Given the description of an element on the screen output the (x, y) to click on. 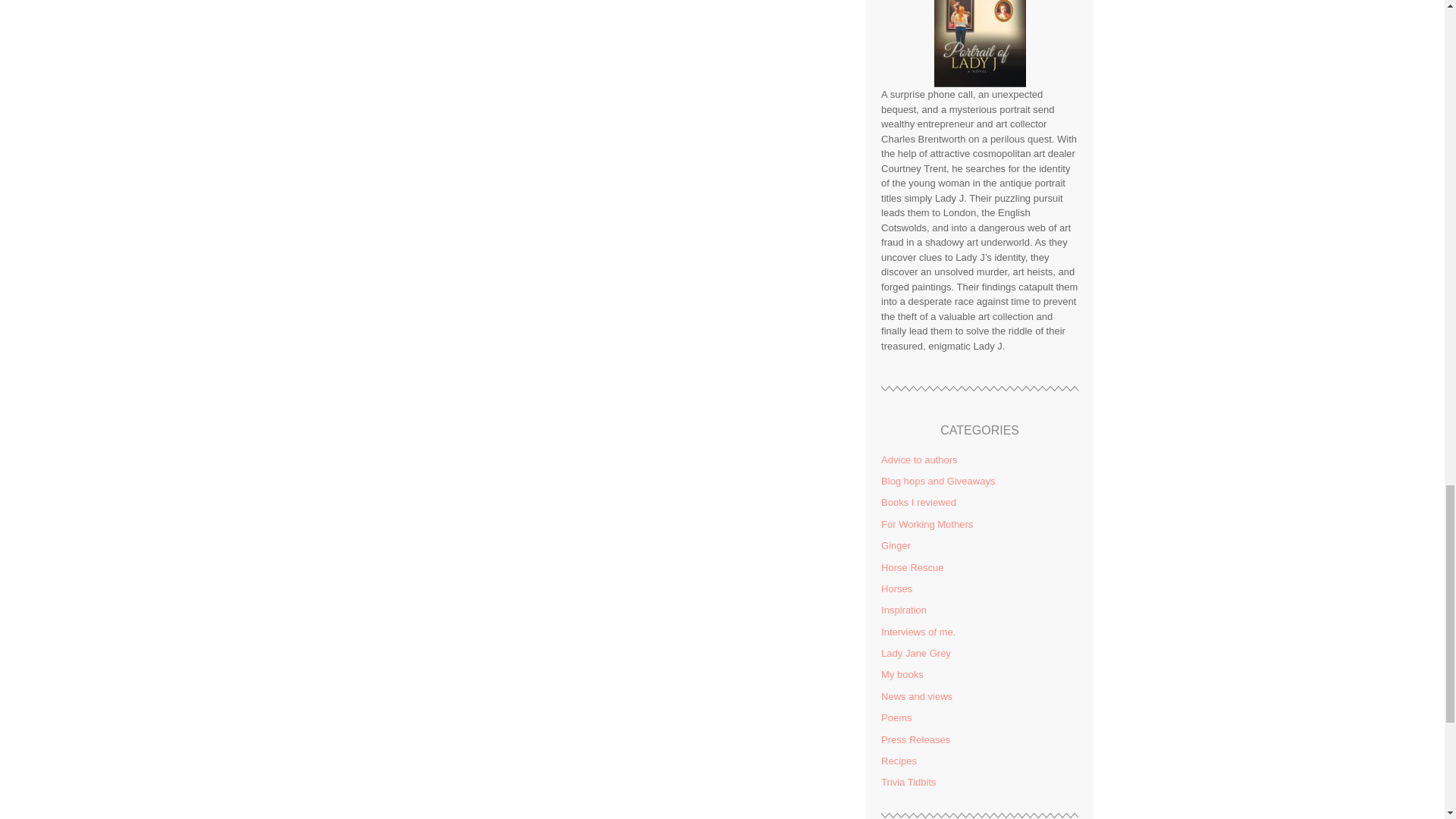
Inspiration (903, 609)
Horses (896, 588)
Horse Rescue (911, 567)
Advice to authors (918, 460)
Ginger (895, 545)
Books I reviewed (918, 501)
Blog hops and Giveaways (937, 480)
For Working Mothers (926, 523)
